Given the description of an element on the screen output the (x, y) to click on. 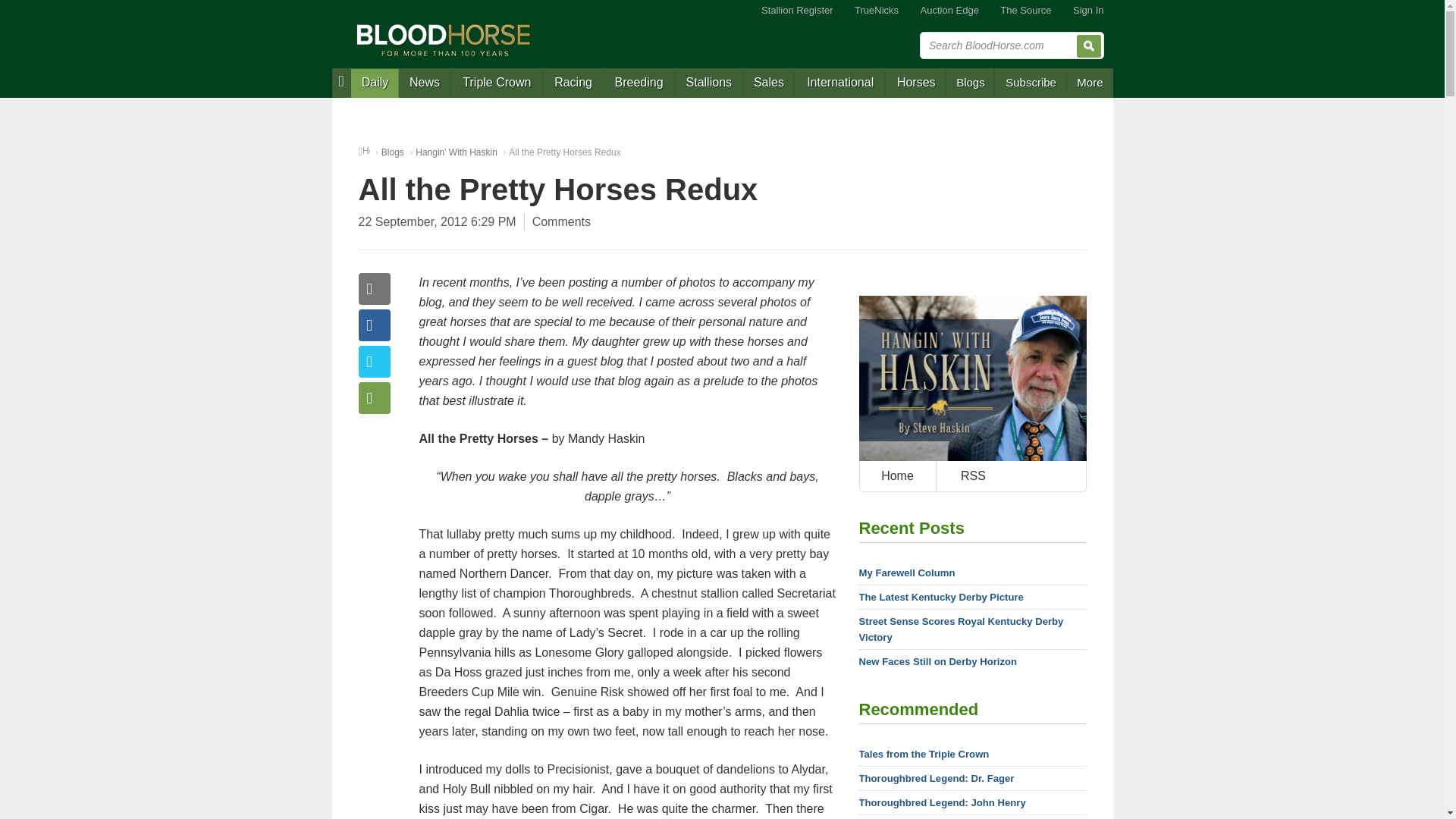
News (423, 82)
Blood-Horse Daily (374, 82)
Blood-Horse: Thoroughbred Horse Racing News (443, 40)
TrueNicks (876, 10)
Search (1088, 46)
Auction Edge (949, 10)
Sign In (1088, 10)
Stallion Register (797, 10)
Thoroughbred News (423, 82)
Daily (374, 82)
The Source (1025, 10)
Search (1088, 46)
